Given the description of an element on the screen output the (x, y) to click on. 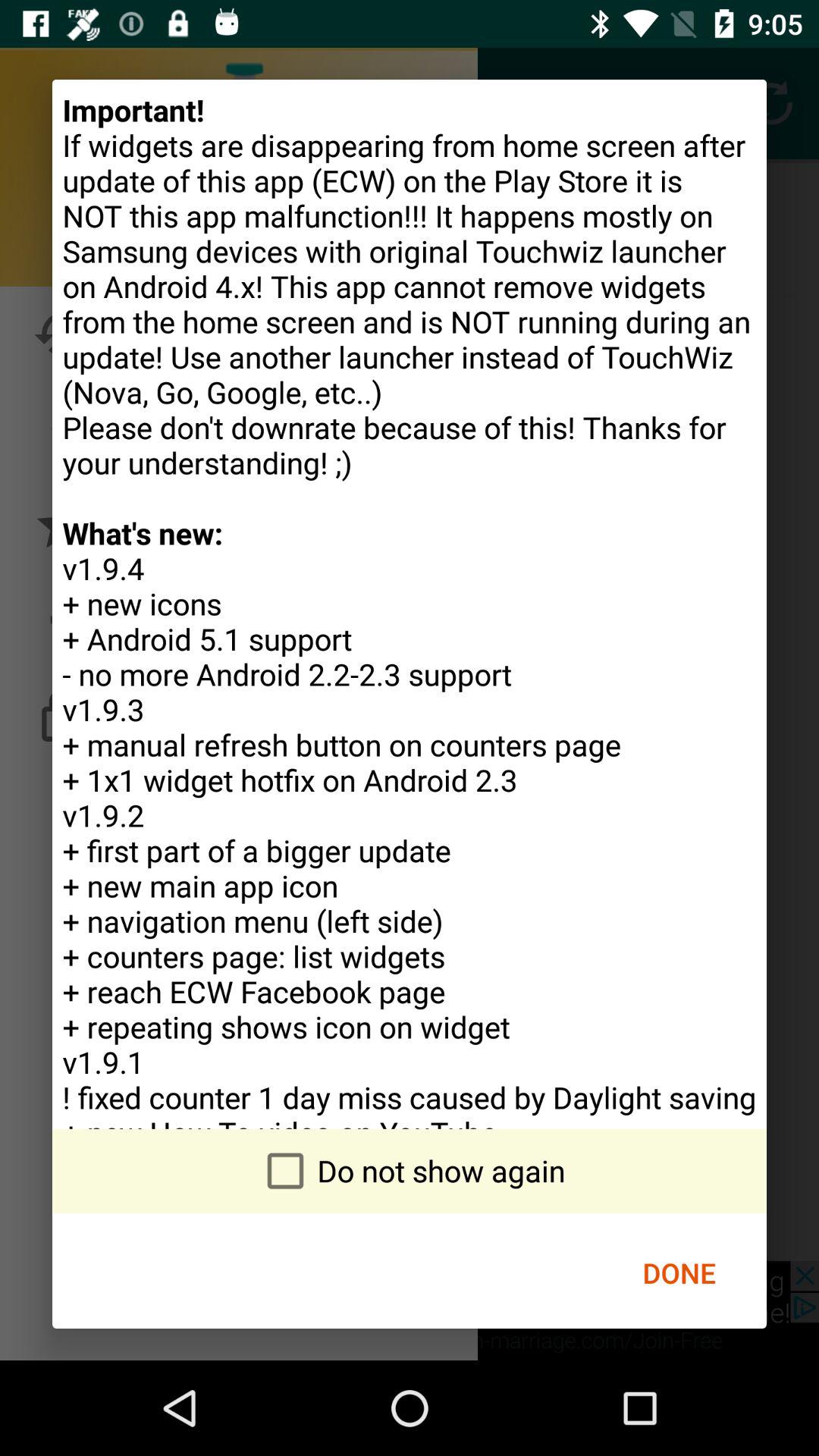
launch the done (678, 1272)
